Given the description of an element on the screen output the (x, y) to click on. 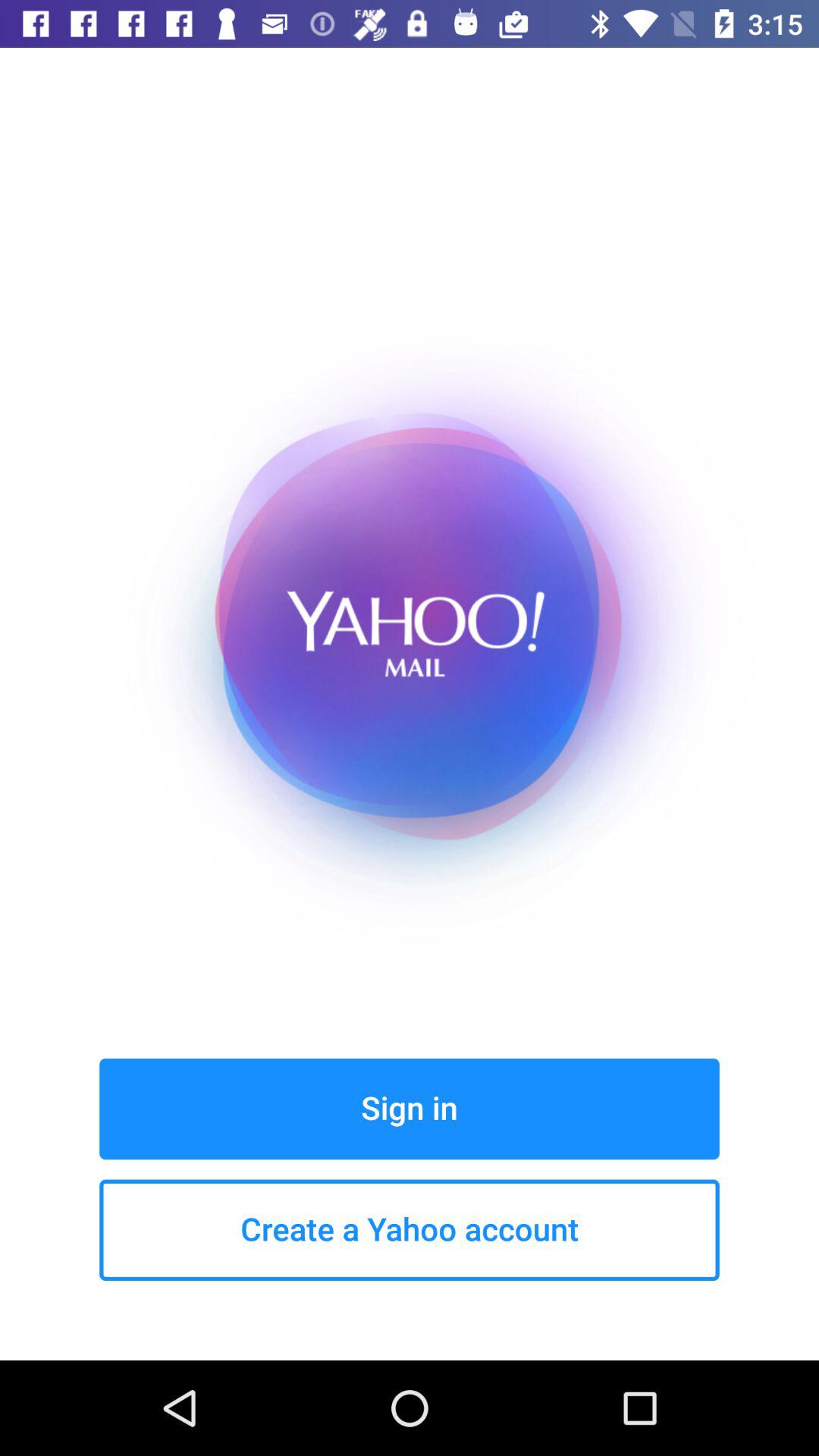
launch the item below sign in icon (409, 1229)
